Given the description of an element on the screen output the (x, y) to click on. 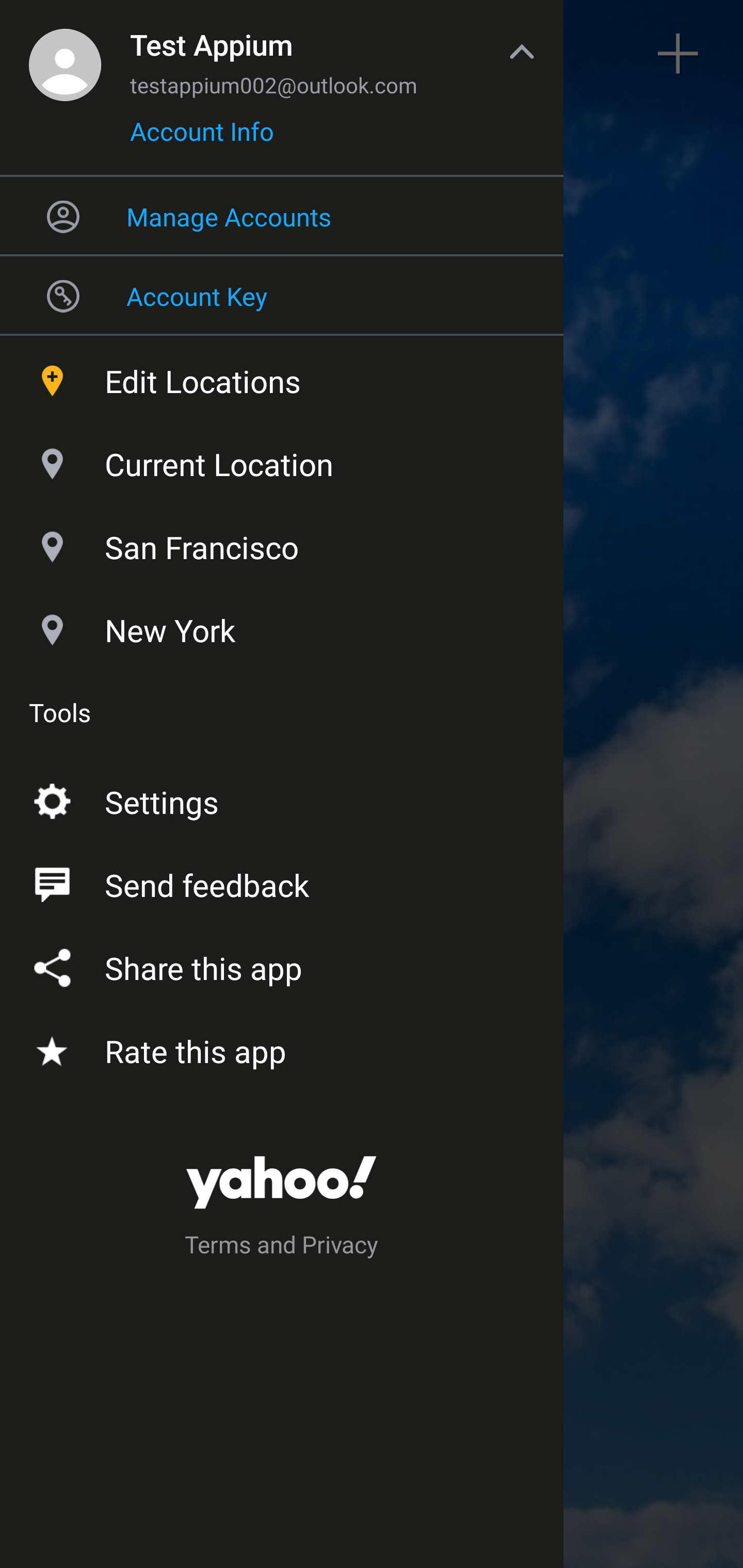
Sidebar (64, 54)
Account Info (202, 137)
Manage Accounts (281, 216)
Account Key (281, 295)
Edit Locations (281, 376)
Current Location (281, 459)
San Francisco (281, 542)
New York (281, 625)
Settings (281, 798)
Send feedback (281, 880)
Share this app (281, 963)
Terms and Privacy Terms and privacy button (281, 1248)
